Given the description of an element on the screen output the (x, y) to click on. 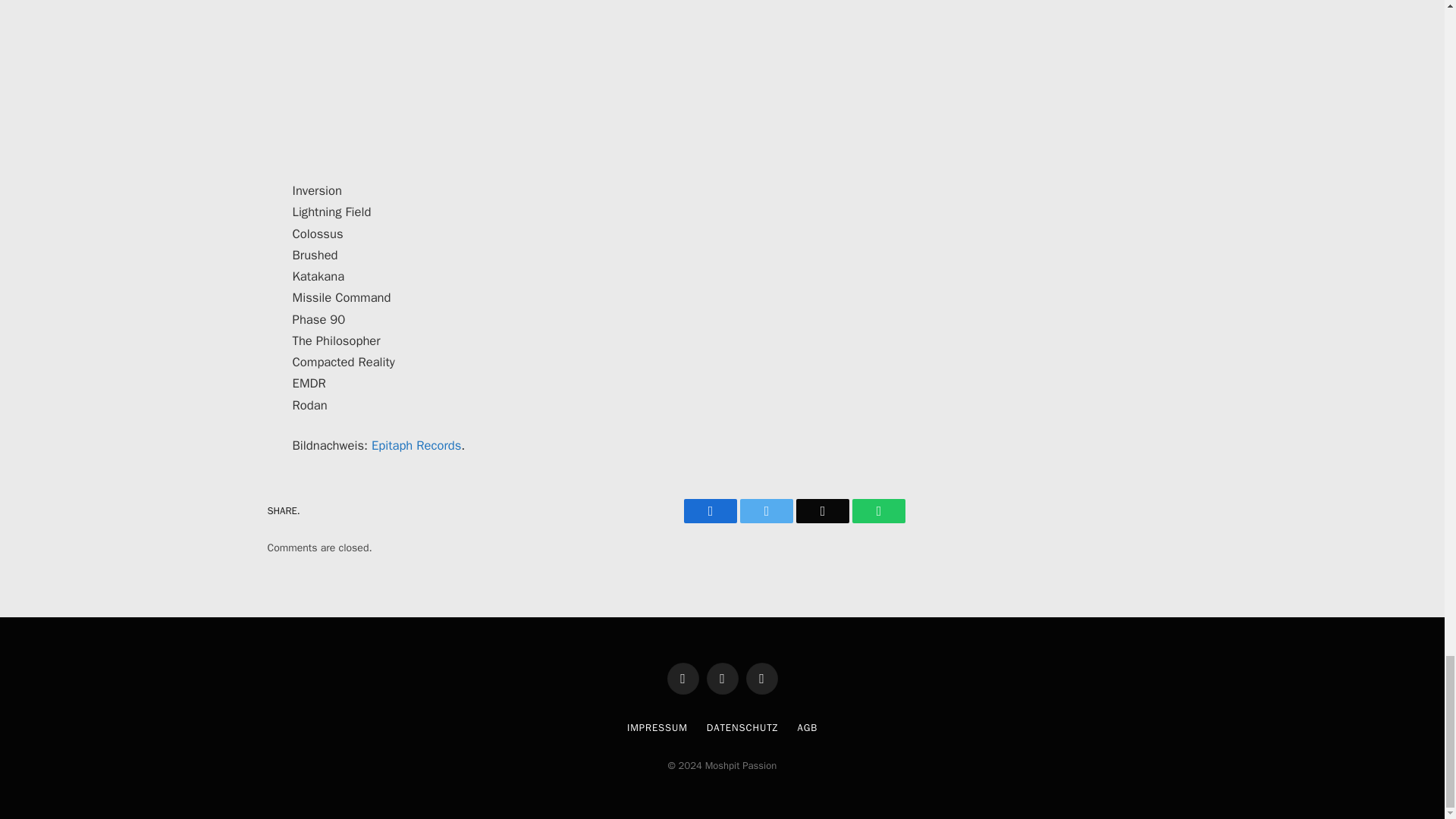
Facebook (710, 510)
Facebook (682, 678)
Share on Facebook (710, 510)
Twitter (766, 510)
Epitaph Records (416, 445)
Share on Twitter (766, 510)
IMPRESSUM (657, 727)
DATENSCHUTZ (742, 727)
Share via Email (822, 510)
YouTube (761, 678)
